Given the description of an element on the screen output the (x, y) to click on. 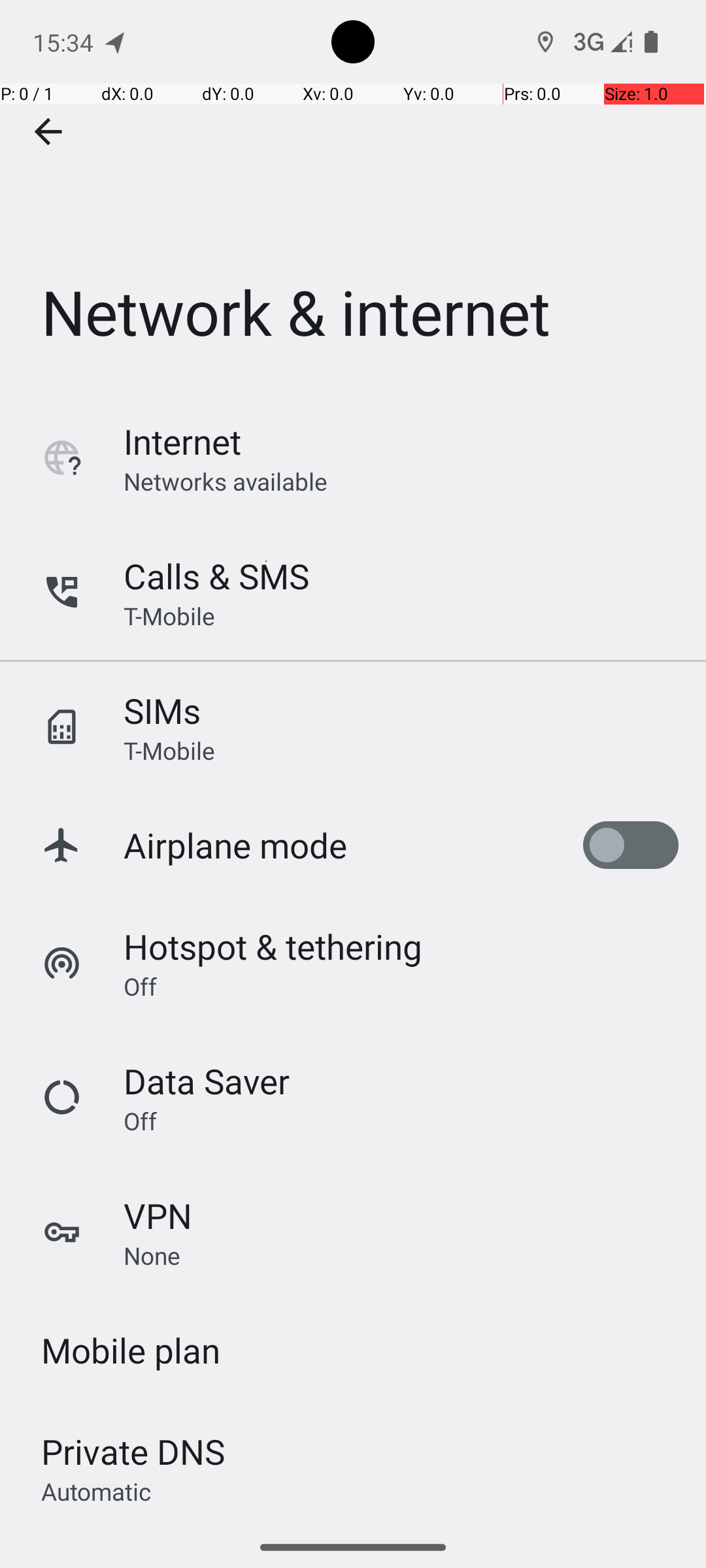
Internet Element type: android.widget.TextView (182, 441)
Networks available Element type: android.widget.TextView (225, 480)
Calls & SMS Element type: android.widget.TextView (216, 575)
T-Mobile Element type: android.widget.TextView (169, 615)
SIMs Element type: android.widget.TextView (161, 710)
Airplane mode Element type: android.widget.TextView (235, 844)
Hotspot & tethering Element type: android.widget.TextView (272, 946)
Data Saver Element type: android.widget.TextView (206, 1080)
VPN Element type: android.widget.TextView (157, 1215)
Mobile plan Element type: android.widget.TextView (130, 1349)
Private DNS Element type: android.widget.TextView (132, 1451)
Automatic Element type: android.widget.TextView (96, 1490)
